Given the description of an element on the screen output the (x, y) to click on. 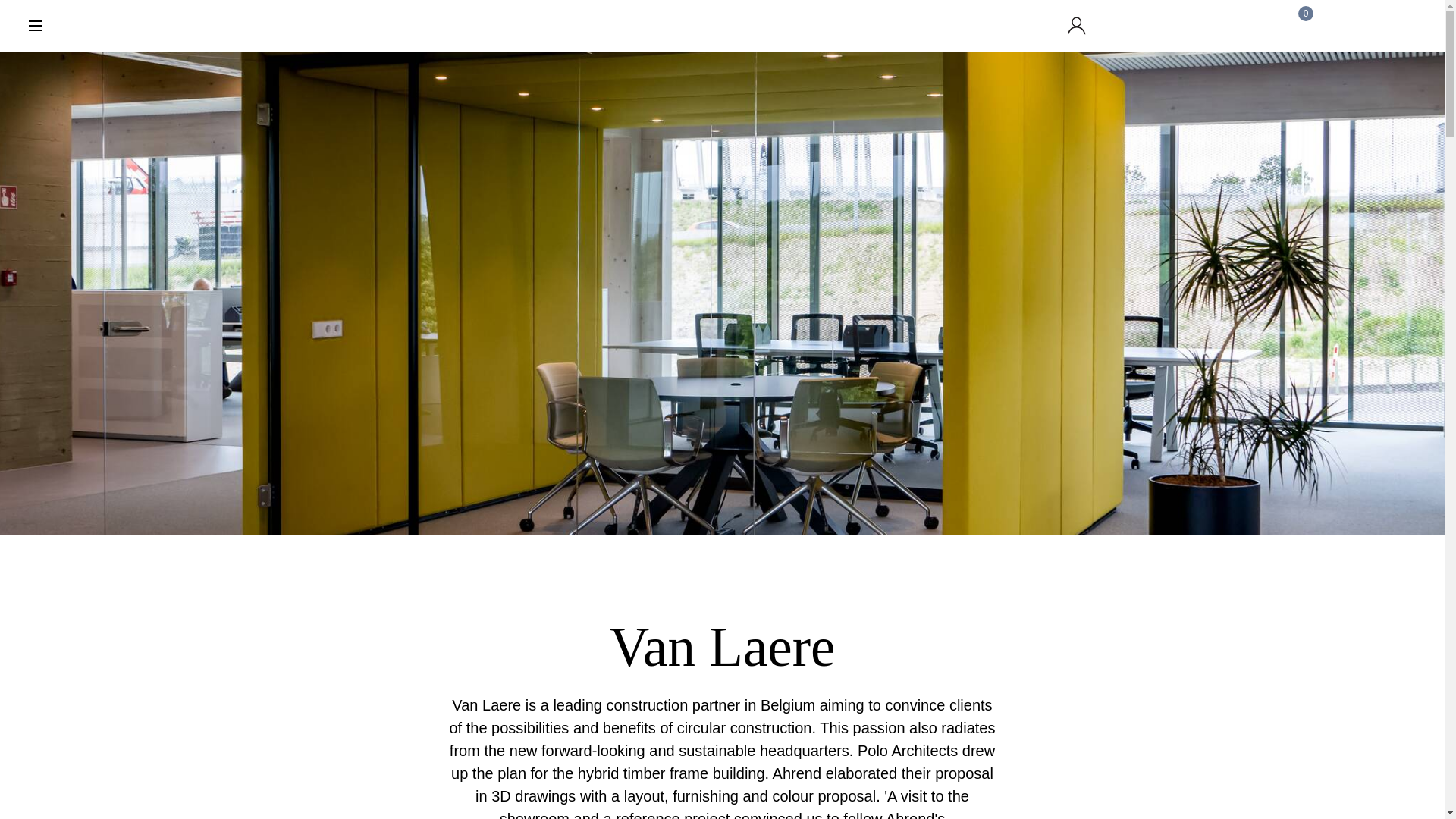
Go to shoppingcart (1297, 25)
Login (1079, 25)
Contact (1352, 25)
Languages (1243, 25)
Toggle menu (35, 25)
Mediabank (1133, 25)
Search (1407, 25)
Global Reach (1188, 25)
0 (1297, 25)
